Given the description of an element on the screen output the (x, y) to click on. 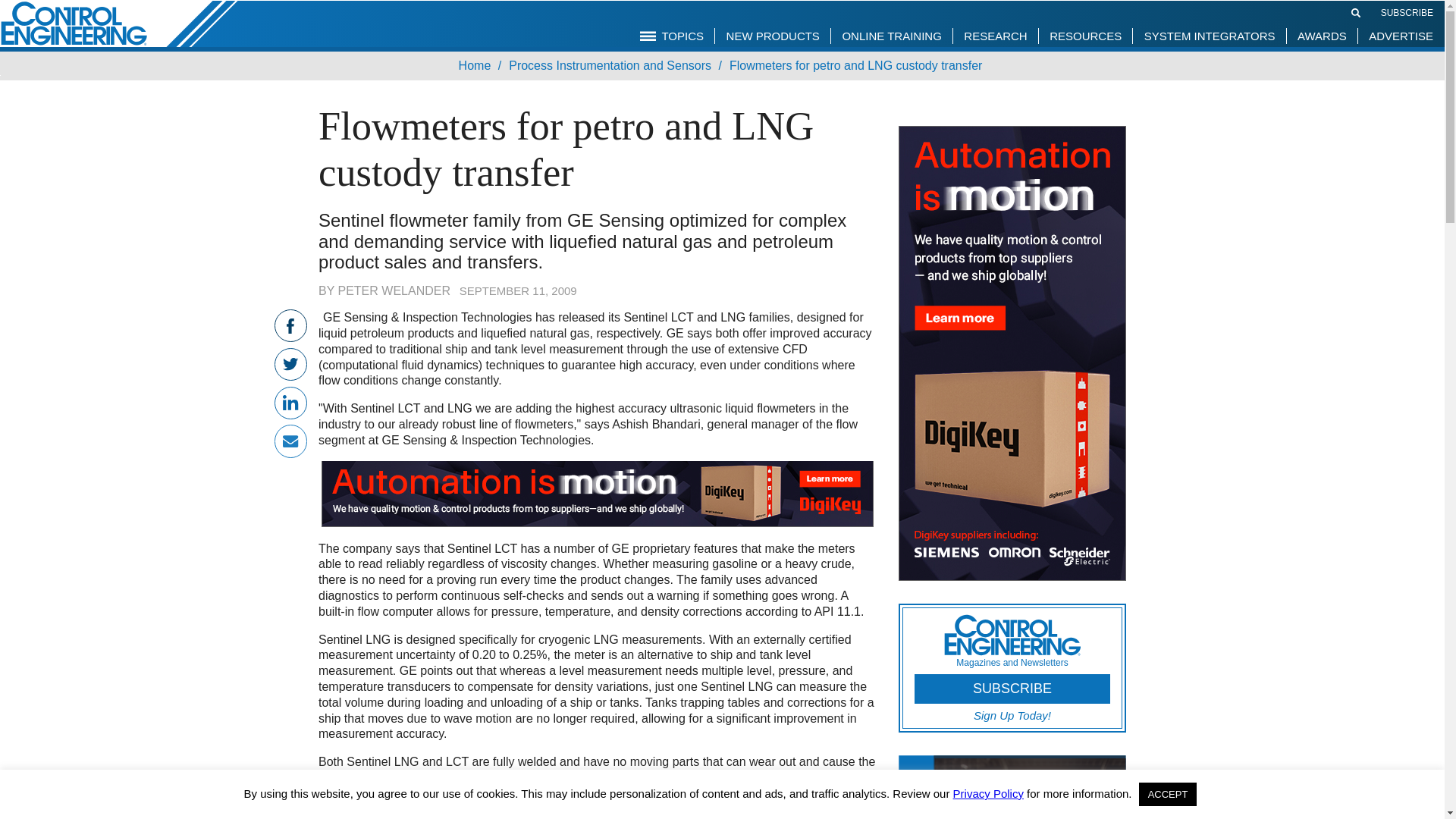
ONLINE TRAINING (890, 35)
3rd party ad content (597, 492)
SUBSCRIBE (1406, 11)
3rd party ad content (1296, 12)
RESOURCES (1085, 35)
TOPICS (671, 35)
Search (1356, 12)
SYSTEM INTEGRATORS (1209, 35)
3rd party ad content (1011, 353)
NEW PRODUCTS (772, 35)
RESEARCH (995, 35)
